Given the description of an element on the screen output the (x, y) to click on. 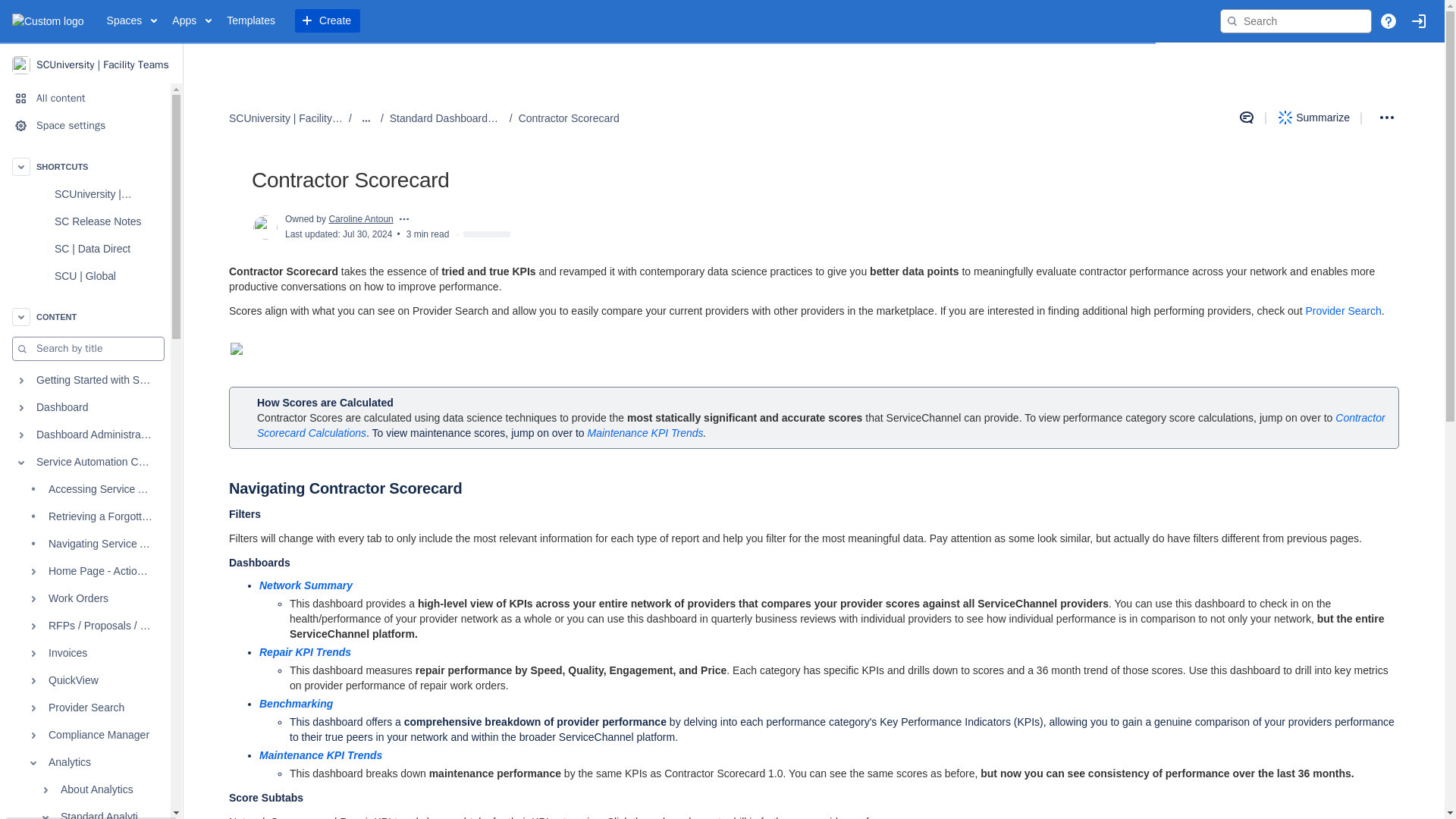
CONTENT (84, 316)
Service Automation Core Modules (84, 461)
SC Release Notes (98, 221)
SHORTCUTS (84, 166)
Create (327, 21)
Dashboard (84, 407)
Apps (191, 21)
All content (84, 98)
Templates (250, 21)
Dashboard Administration (84, 434)
